Given the description of an element on the screen output the (x, y) to click on. 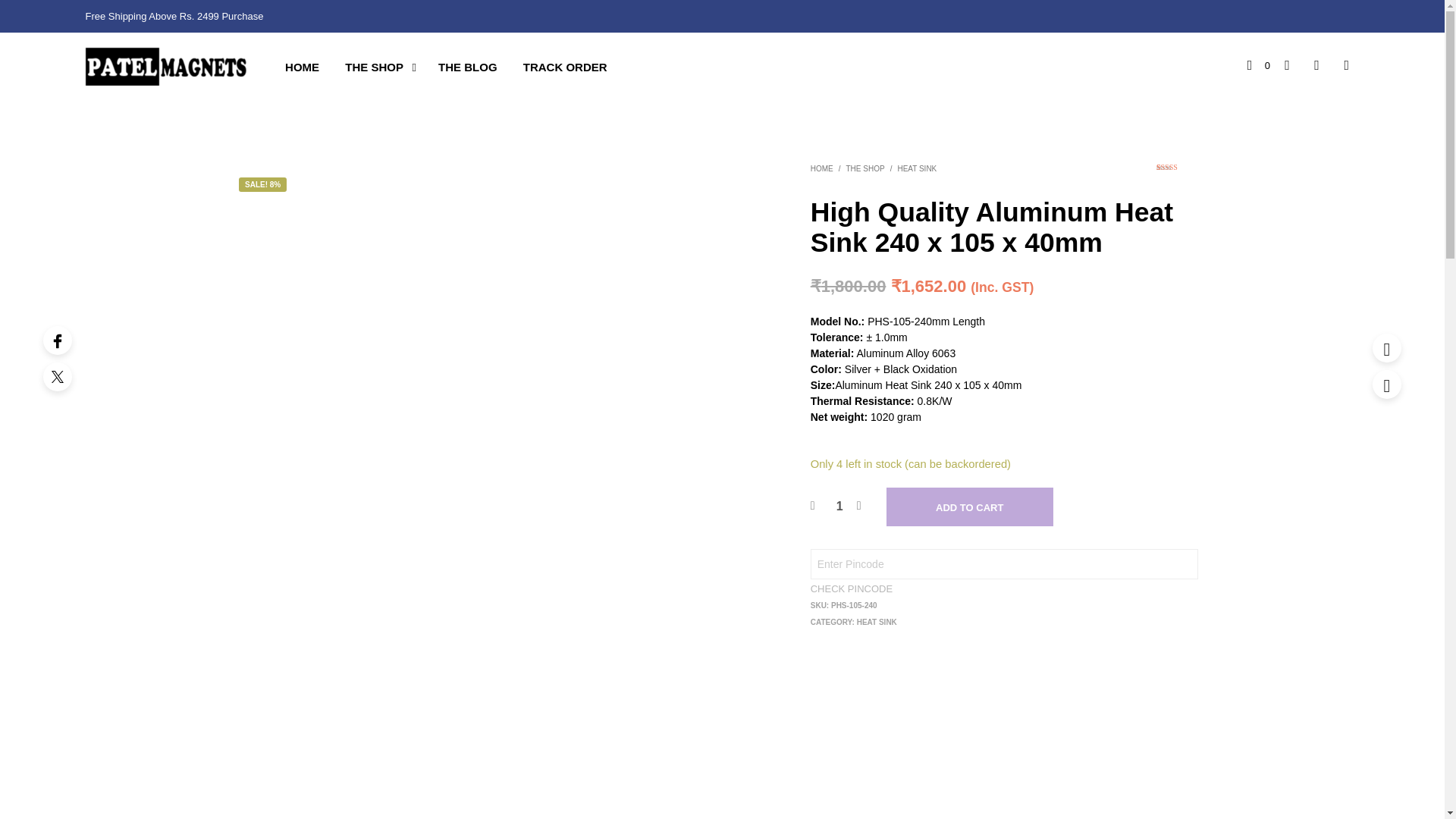
0 (1258, 65)
THE SHOP (865, 168)
THE BLOG (467, 67)
1 (839, 506)
THE SHOP (373, 67)
HOME (821, 168)
TRACK ORDER (565, 67)
HEAT SINK (916, 168)
HOME (301, 67)
